Given the description of an element on the screen output the (x, y) to click on. 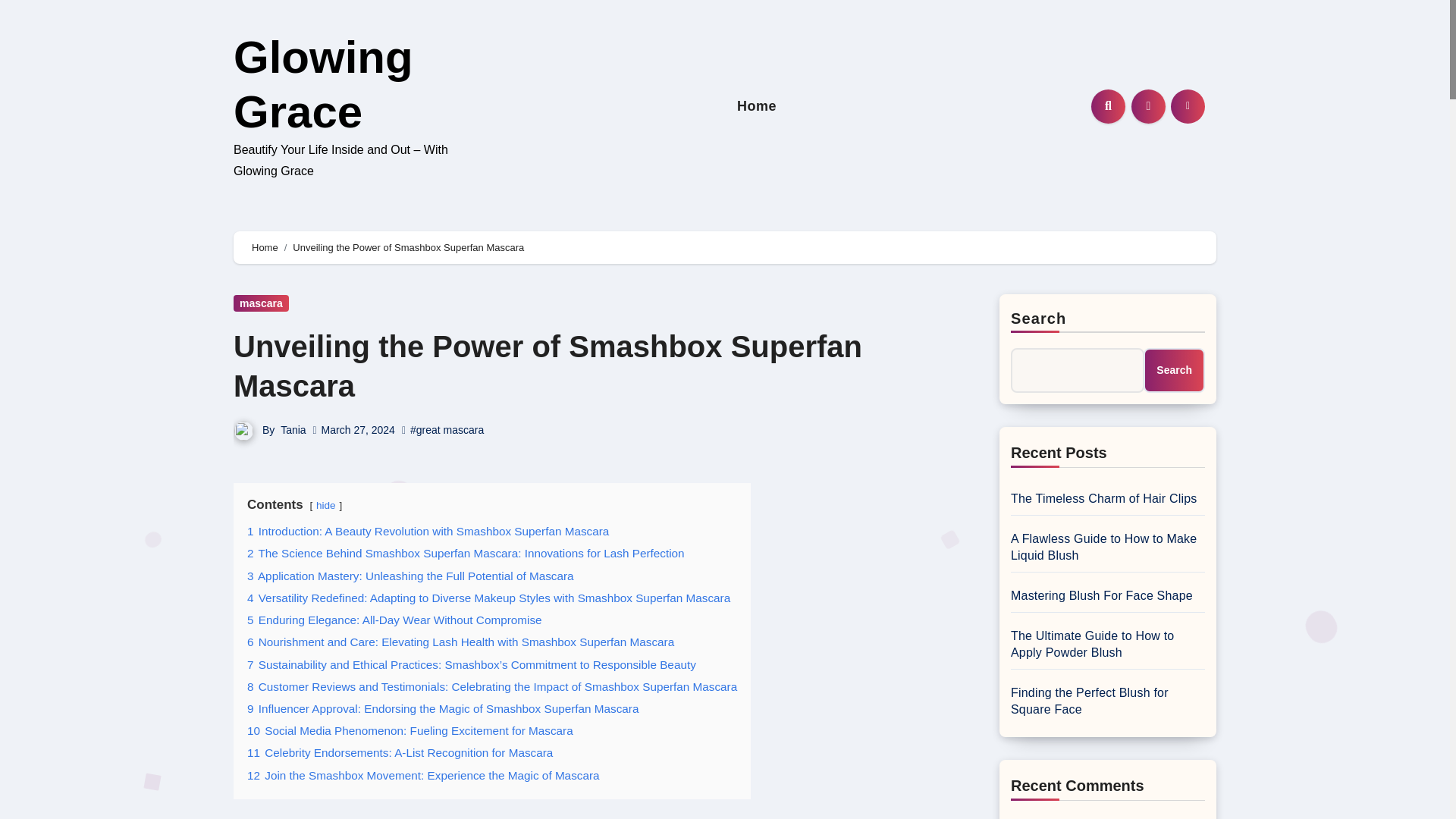
11 Celebrity Endorsements: A-List Recognition for Mascara (400, 752)
10 Social Media Phenomenon: Fueling Excitement for Mascara (410, 730)
Home (756, 106)
Home (756, 106)
Unveiling the Power of Smashbox Superfan Mascara (546, 366)
